Given the description of an element on the screen output the (x, y) to click on. 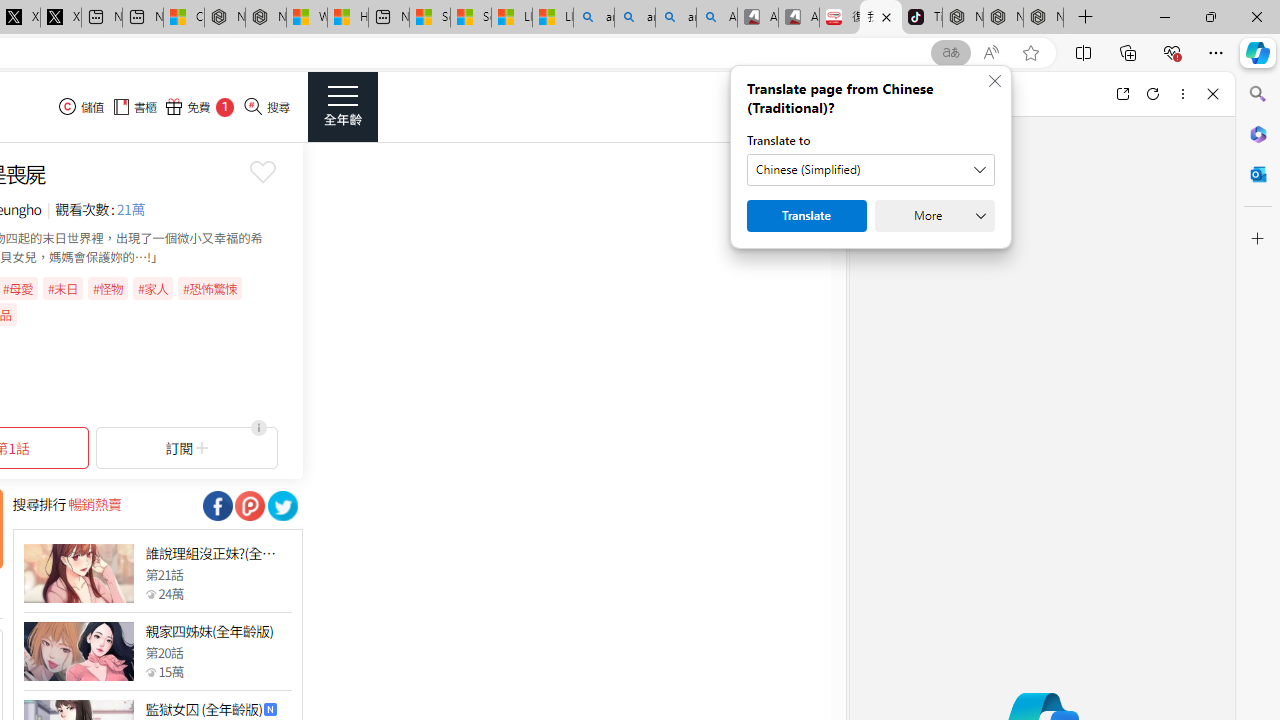
amazon - Search (634, 17)
Open link in new tab (1122, 93)
Class: epicon_starpoint (150, 671)
Huge shark washes ashore at New York City beach | Watch (347, 17)
Class: socialShare (282, 506)
